Given the description of an element on the screen output the (x, y) to click on. 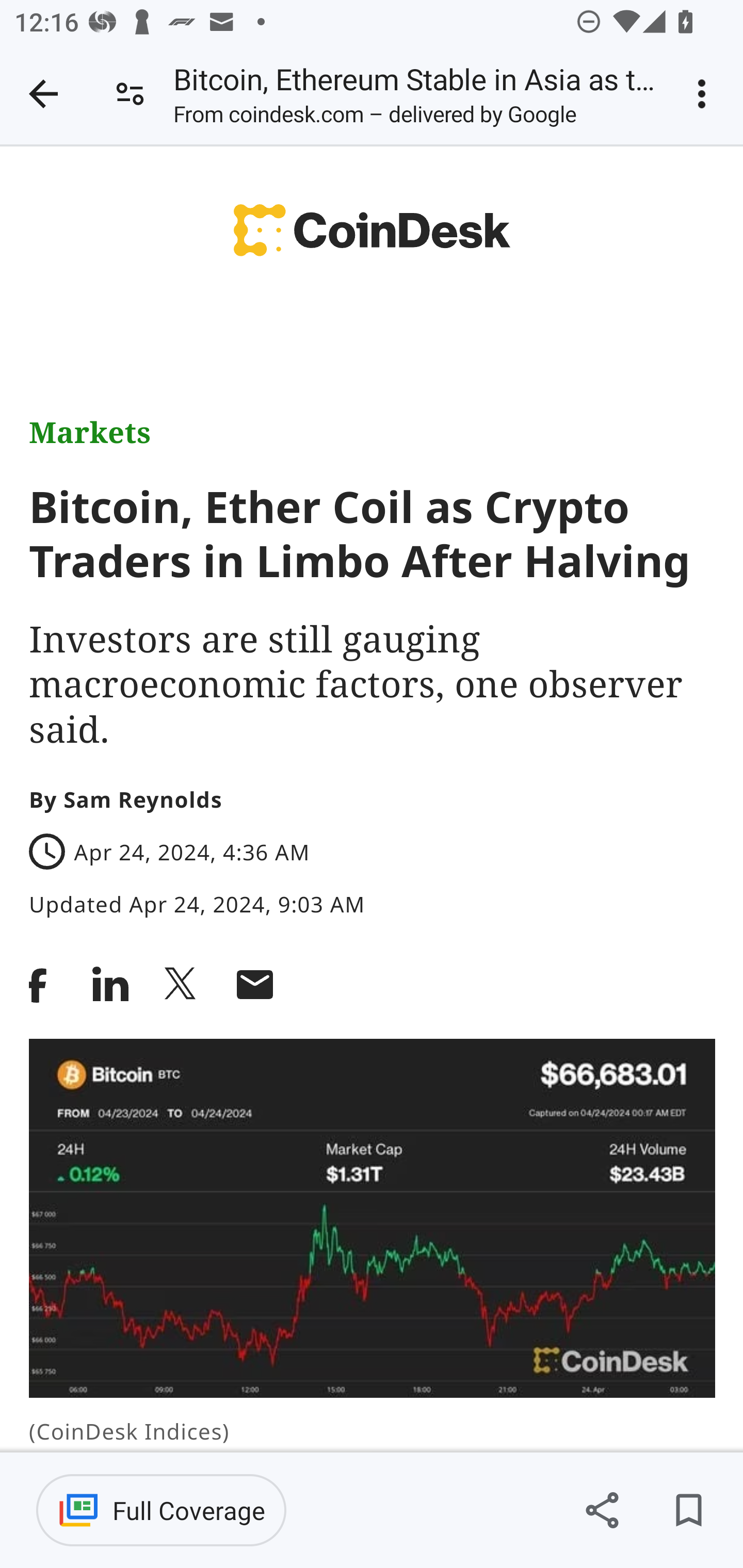
Close tab (43, 93)
Customize and control Google Chrome (705, 93)
Connection is secure (129, 93)
From coindesk.com – delivered by Google (374, 117)
Coin Desk logo link to home Coindesk Logo (371, 235)
Markets (89, 433)
Sam Reynolds (143, 798)
Facebook icon (42, 984)
Linkedin icon (110, 984)
X icon (182, 984)
Share via Email (254, 984)
Full Coverage (161, 1509)
Share (601, 1510)
Save for later (688, 1510)
